Given the description of an element on the screen output the (x, y) to click on. 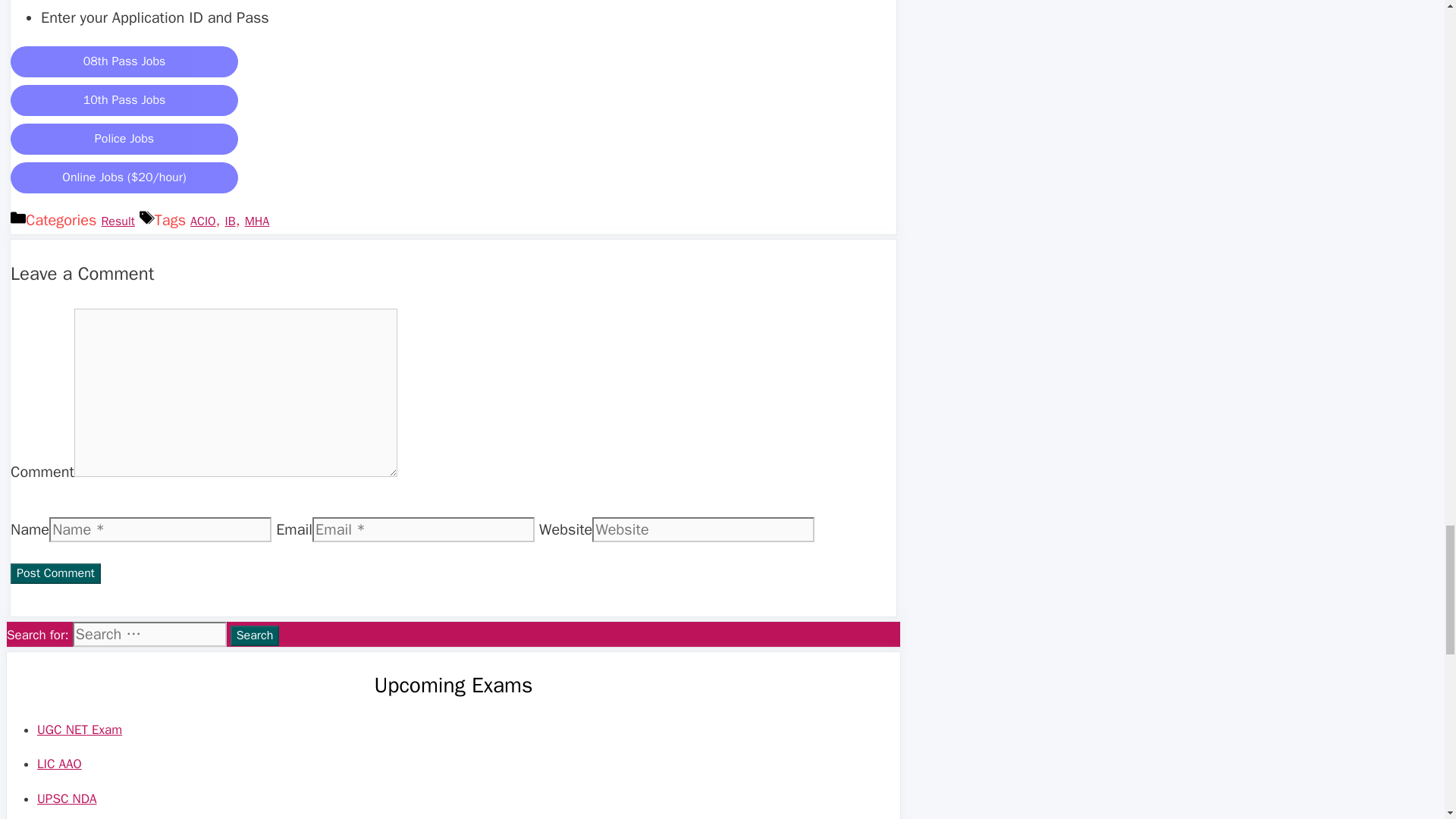
Search (254, 635)
10th Pass Jobs (124, 100)
ACIO (202, 221)
Police Jobs (124, 138)
Police Jobs (124, 137)
Result (116, 221)
MHA (256, 221)
08th Pass Jobs (124, 59)
10th Pass Jobs (124, 98)
Search for: (149, 634)
08th Pass Jobs (124, 60)
Post Comment (55, 573)
Search (254, 635)
